Given the description of an element on the screen output the (x, y) to click on. 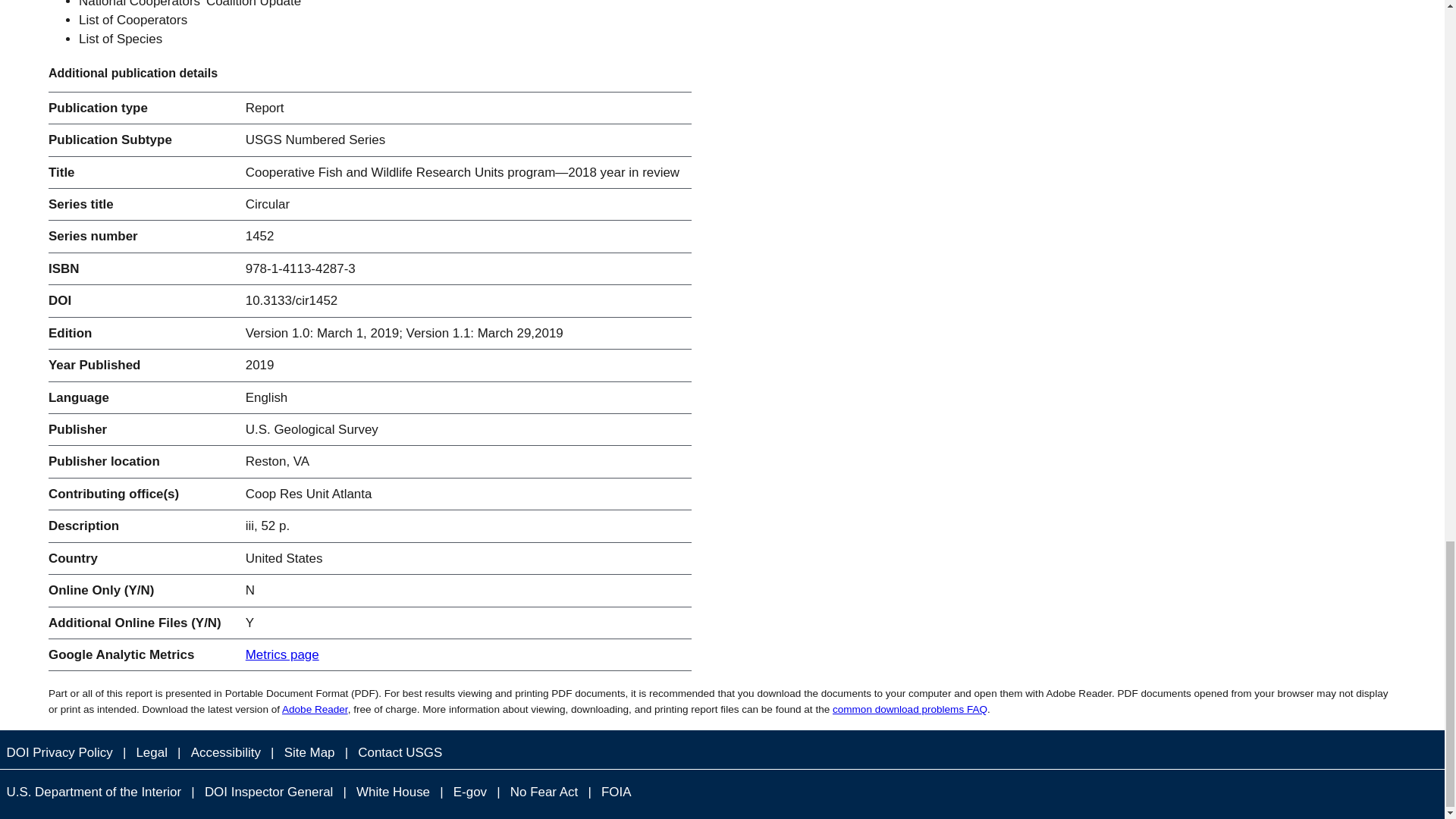
U.S. Department of the Interior (93, 791)
common download problems FAQ (909, 708)
DOI Privacy Policy (59, 752)
Accessibility (225, 752)
Site Map (309, 752)
Legal (151, 752)
Metrics page (282, 654)
Adobe Reader (314, 708)
Contact USGS (400, 752)
